Given the description of an element on the screen output the (x, y) to click on. 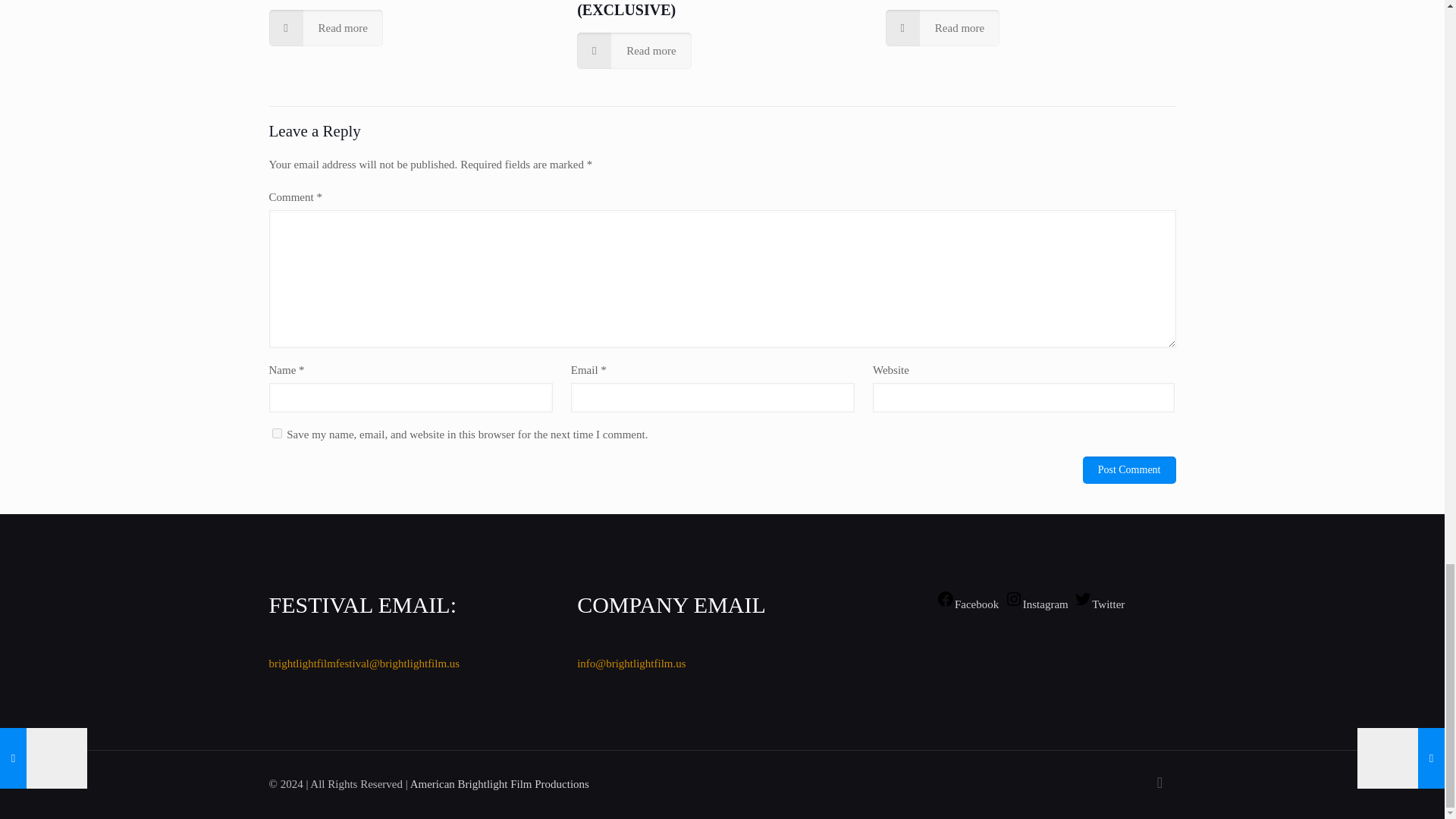
yes (275, 433)
Post Comment (1129, 470)
